Given the description of an element on the screen output the (x, y) to click on. 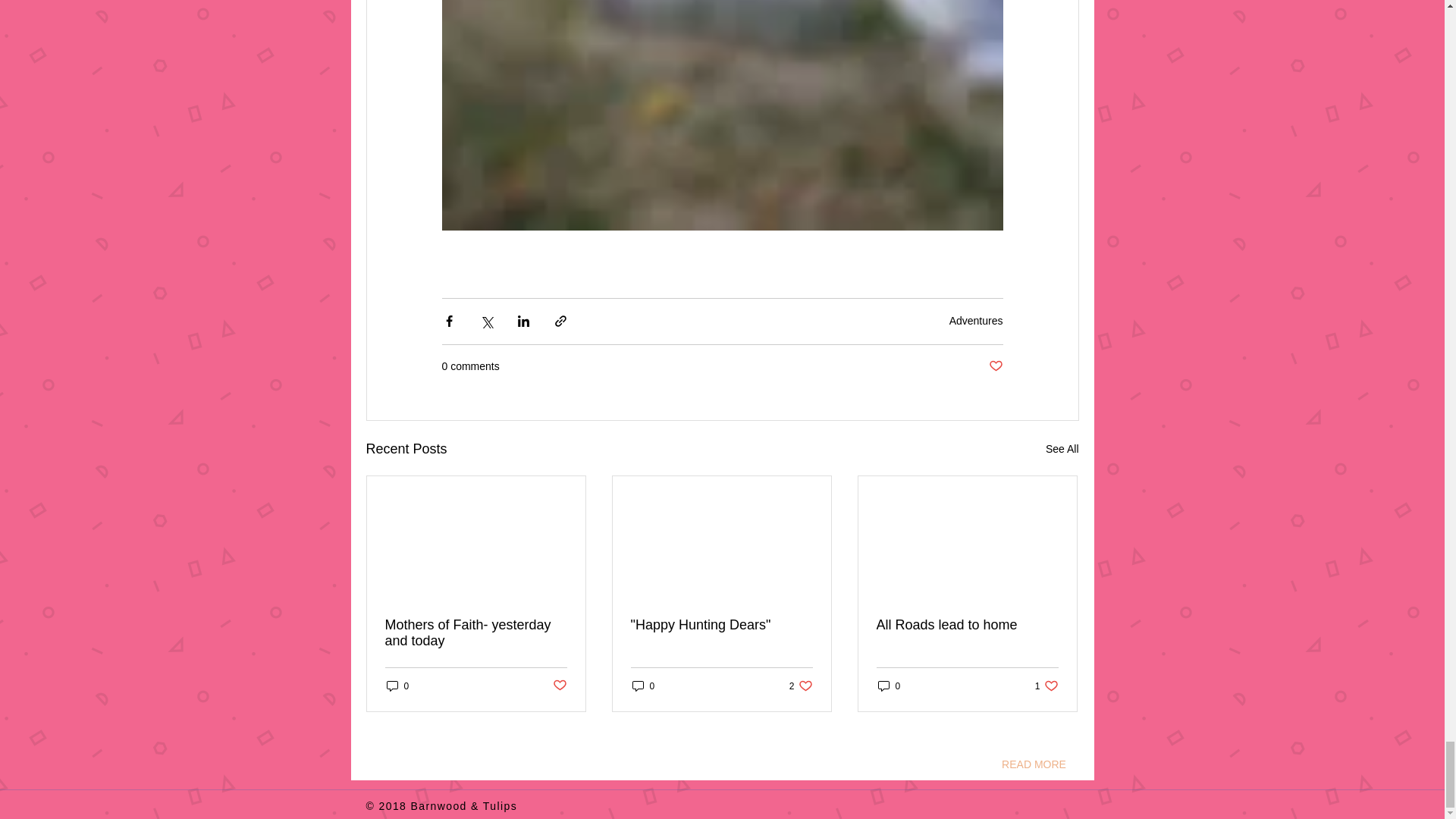
All Roads lead to home (967, 625)
0 (889, 685)
See All (1046, 685)
READ MORE (1061, 449)
Post not marked as liked (1033, 765)
0 (558, 685)
Mothers of Faith- yesterday and today (800, 685)
Adventures (643, 685)
